Given the description of an element on the screen output the (x, y) to click on. 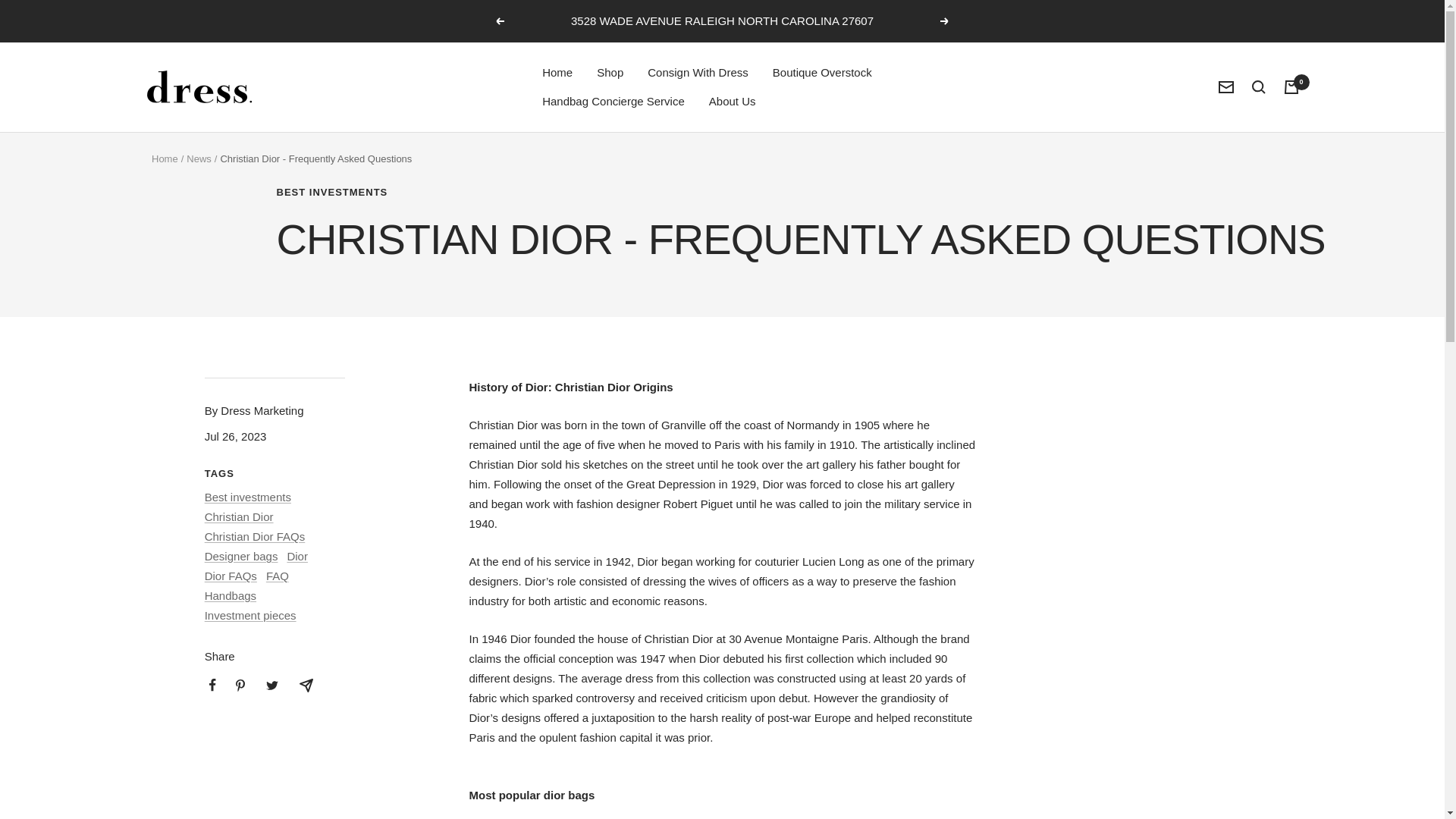
Next (944, 21)
Newsletter (1225, 87)
Christian Dior (239, 516)
Handbags (230, 594)
Home (164, 158)
Investment pieces (251, 615)
FAQ (277, 575)
Christian Dior FAQs (255, 535)
0 (1291, 87)
Dress Raleigh (198, 86)
